Given the description of an element on the screen output the (x, y) to click on. 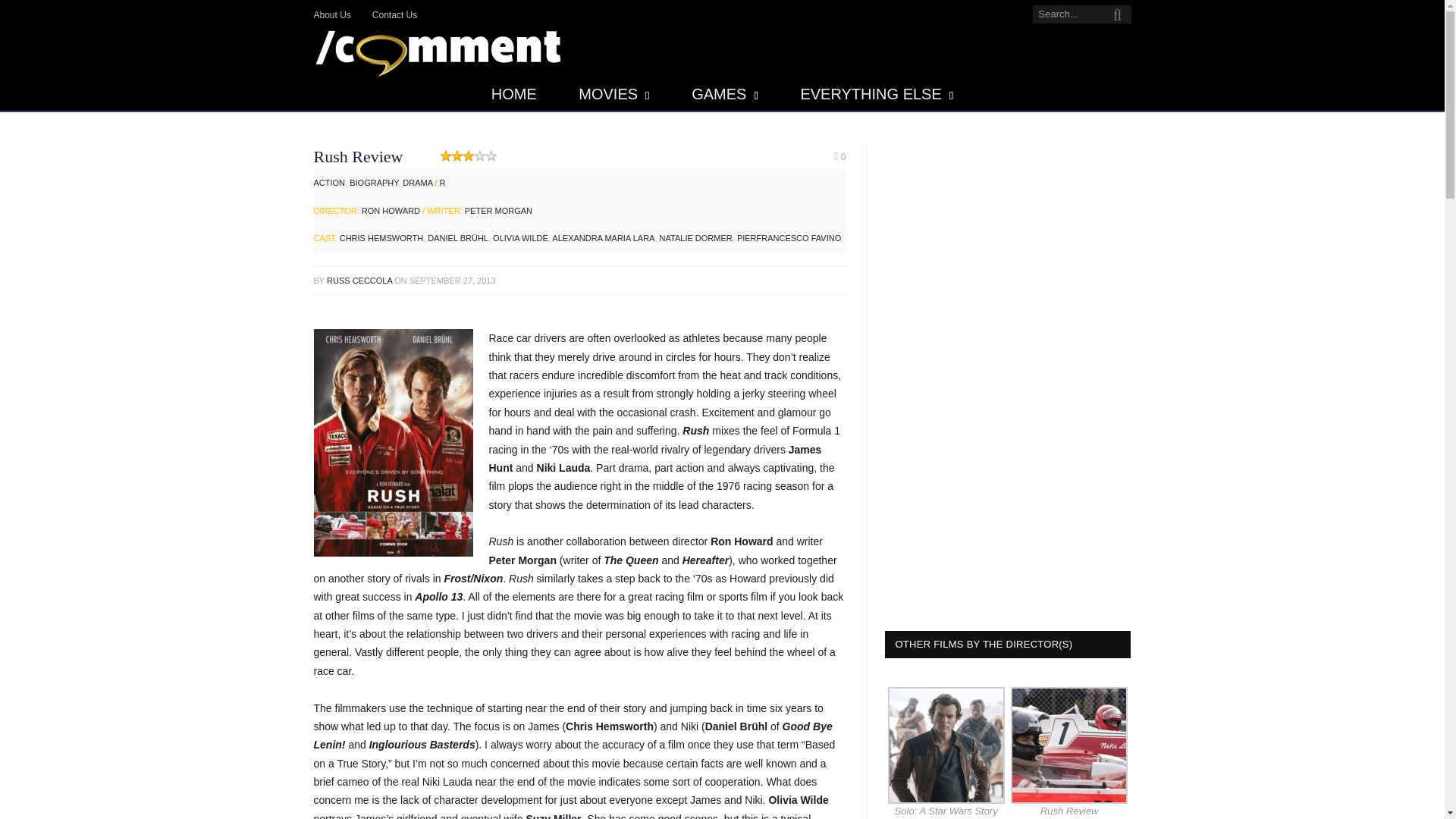
Posts by Russ Ceccola (358, 280)
RUSS CECCOLA (358, 280)
GAMES (724, 94)
BIOGRAPHY (373, 182)
HOME (513, 94)
2013-09-27 (452, 280)
PETER MORGAN (498, 210)
NATALIE DORMER (695, 237)
PIERFRANCESCO FAVINO (788, 237)
OLIVIA WILDE (520, 237)
ALEXANDRA MARIA LARA (602, 237)
MOVIES (613, 94)
EVERYTHING ELSE (876, 94)
About Us (332, 14)
CHRIS HEMSWORTH (381, 237)
